Given the description of an element on the screen output the (x, y) to click on. 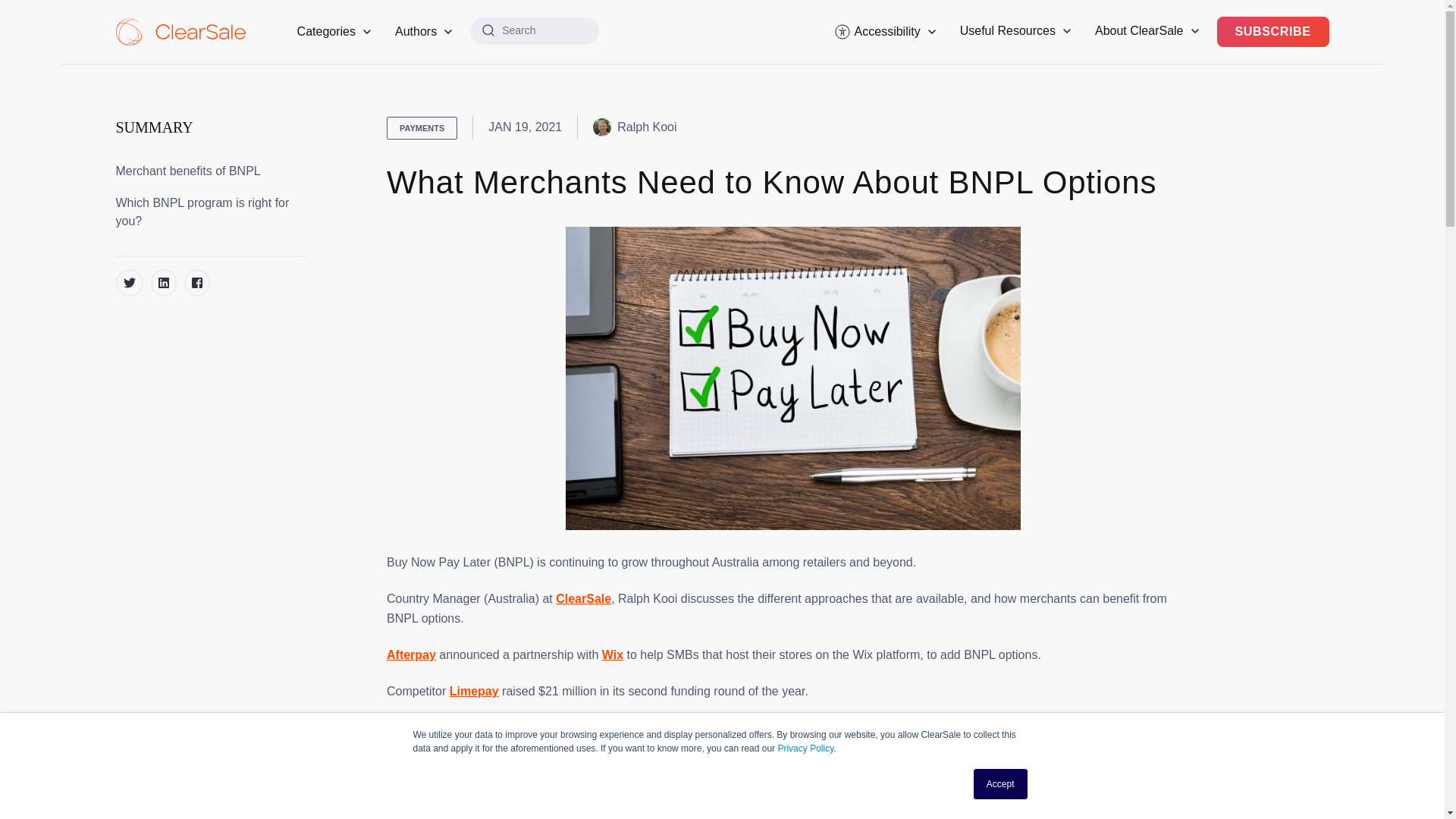
Accept (1000, 784)
Categories (334, 31)
Privacy Policy. (806, 747)
